Given the description of an element on the screen output the (x, y) to click on. 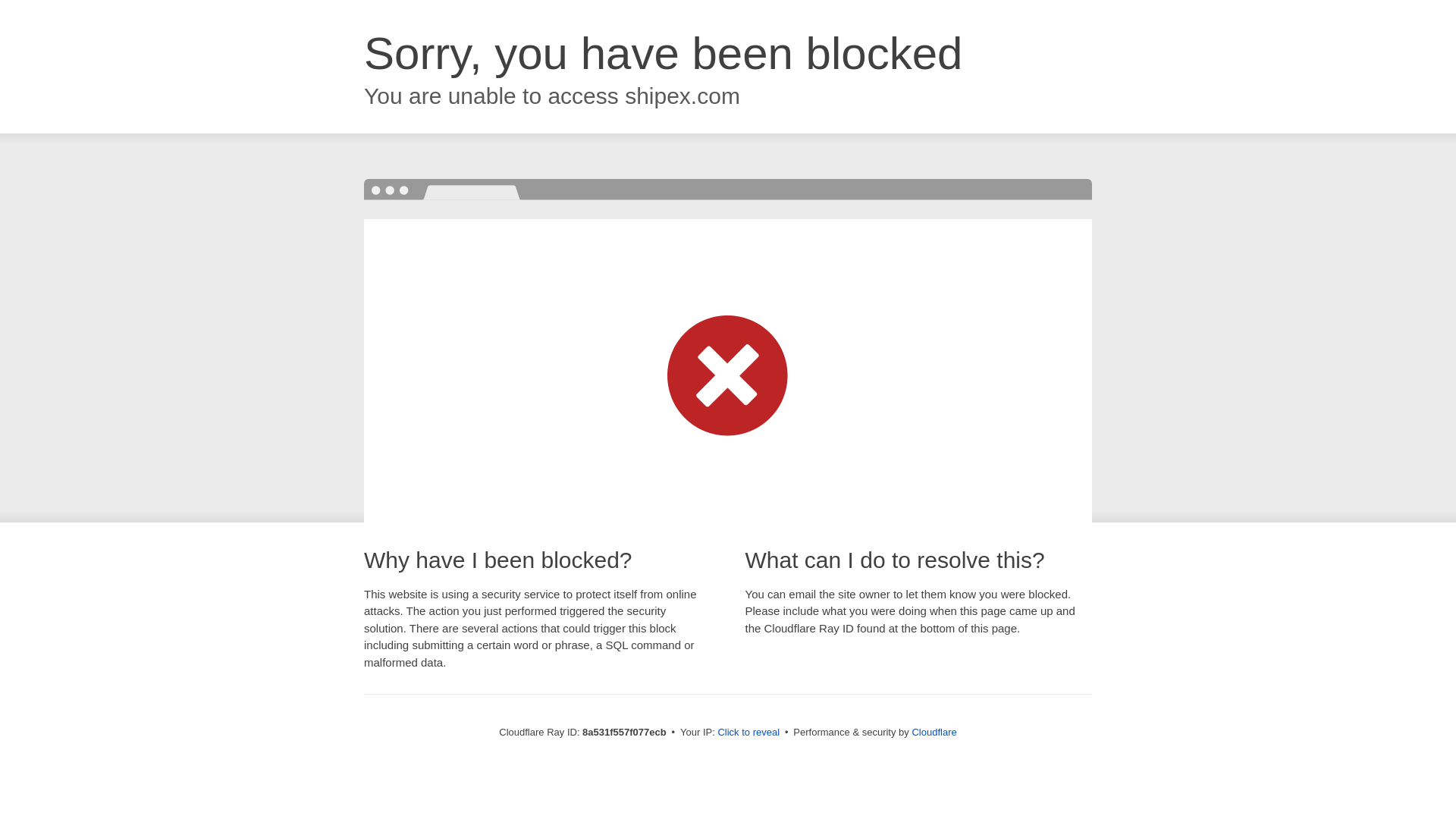
Cloudflare (933, 731)
Click to reveal (747, 732)
